Given the description of an element on the screen output the (x, y) to click on. 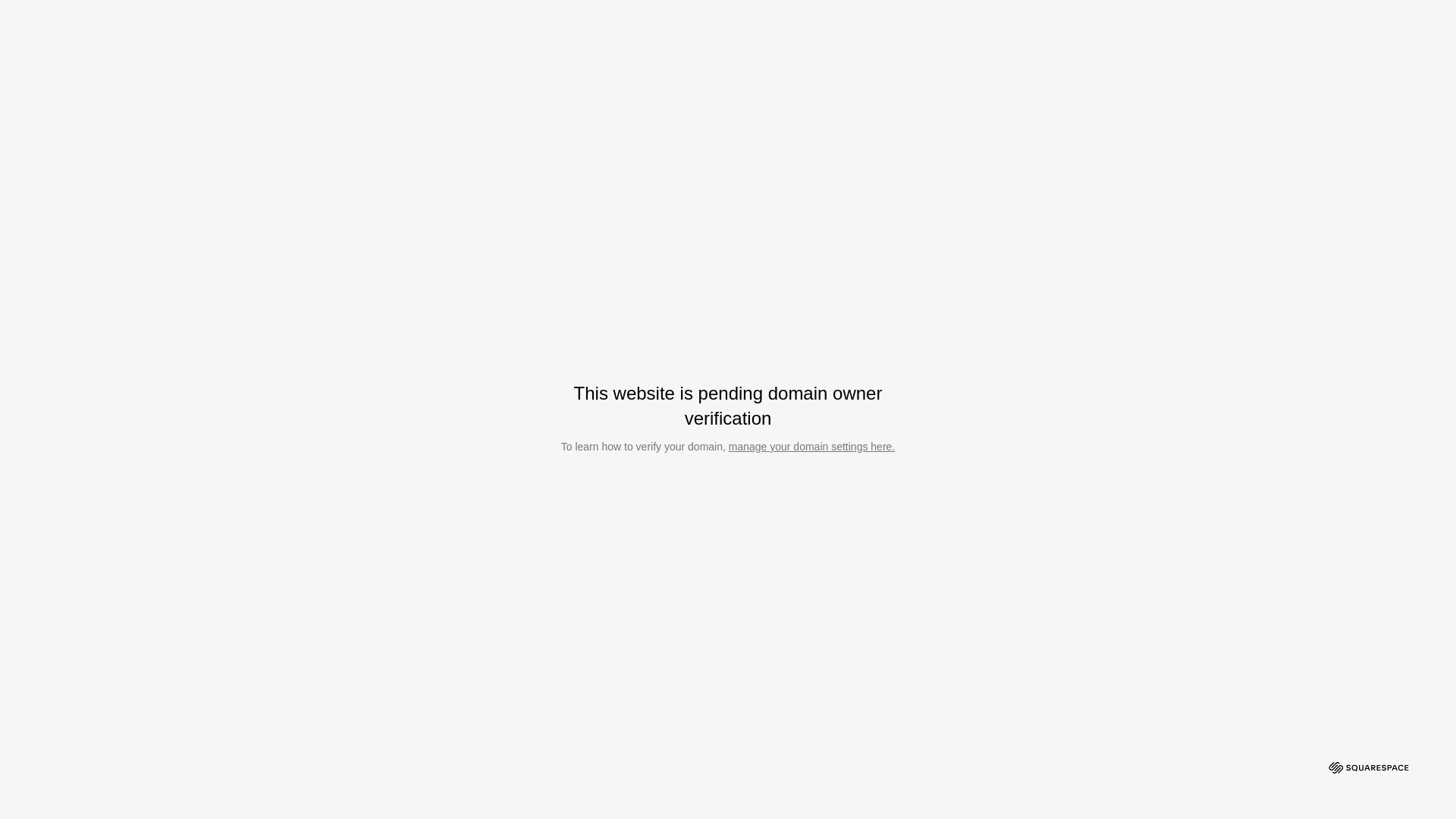
manage your domain settings here. Element type: text (811, 446)
